Given the description of an element on the screen output the (x, y) to click on. 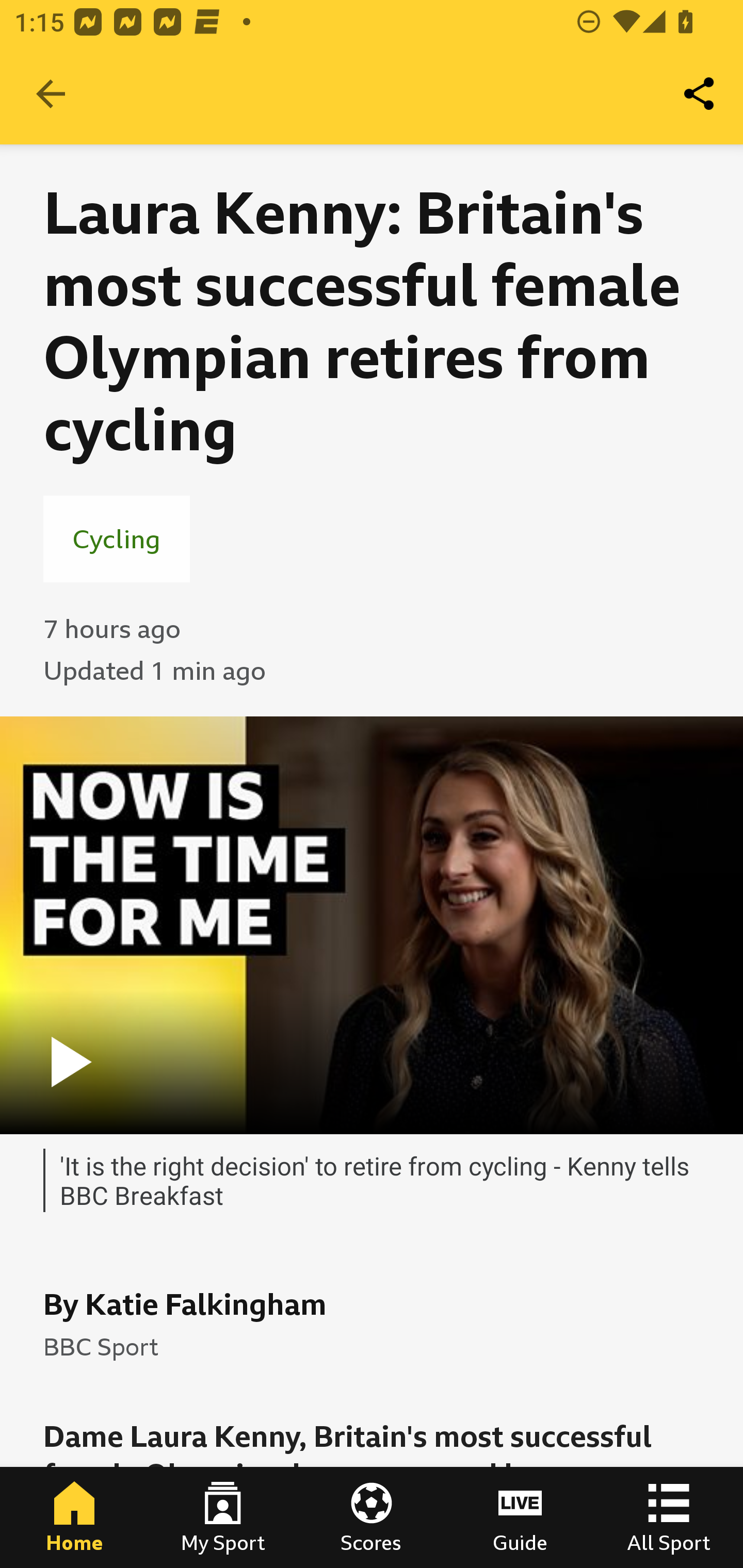
Navigate up (50, 93)
Share (699, 93)
Cycling (116, 538)
play fullscreen (371, 924)
My Sport (222, 1517)
Scores (371, 1517)
Guide (519, 1517)
All Sport (668, 1517)
